Given the description of an element on the screen output the (x, y) to click on. 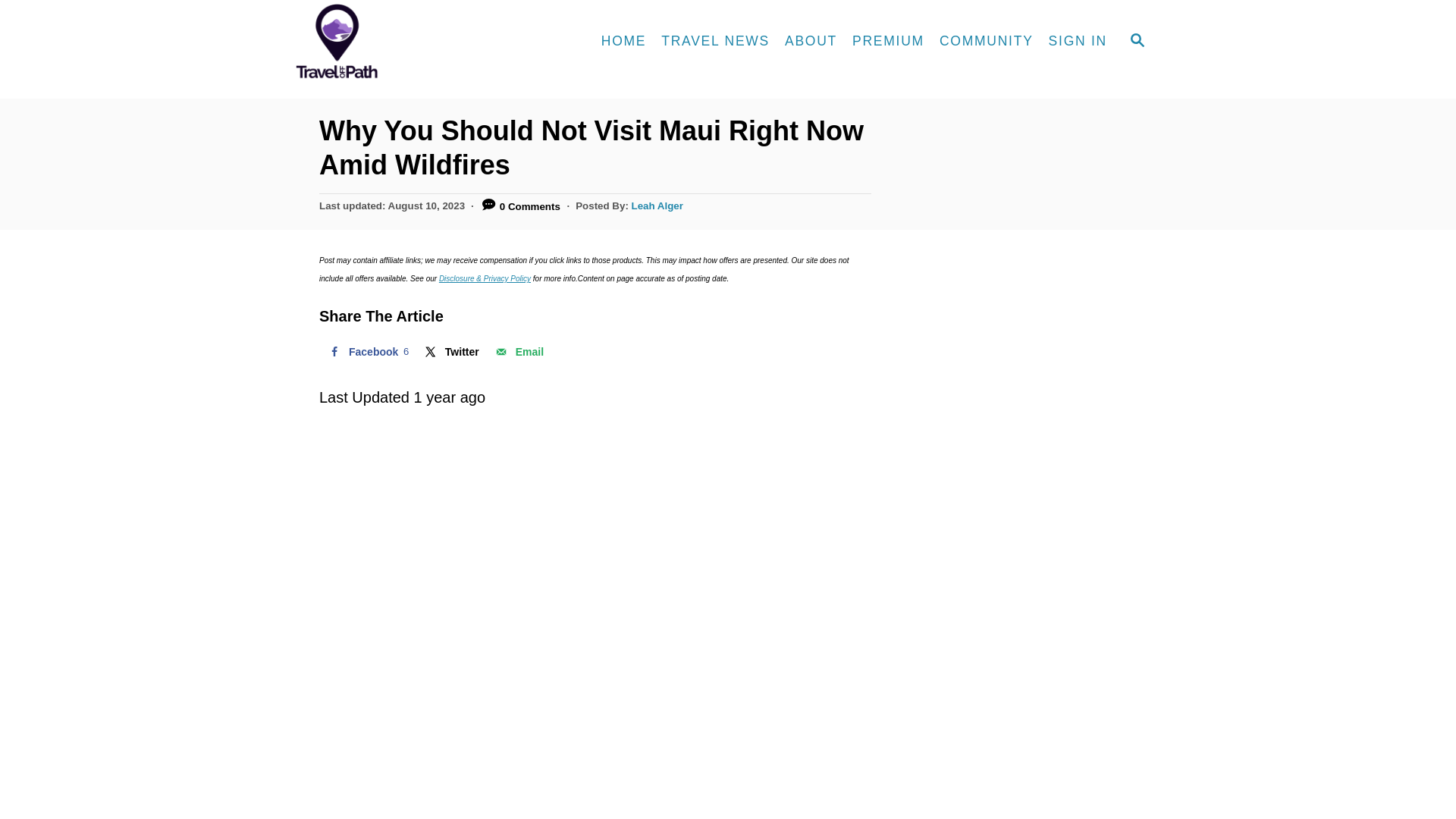
ABOUT (810, 41)
COMMUNITY (986, 41)
Email (518, 351)
SEARCH (1137, 40)
SIGN IN (1078, 41)
Send over email (518, 351)
Twitter (450, 351)
Leah Alger (366, 351)
HOME (656, 205)
